Given the description of an element on the screen output the (x, y) to click on. 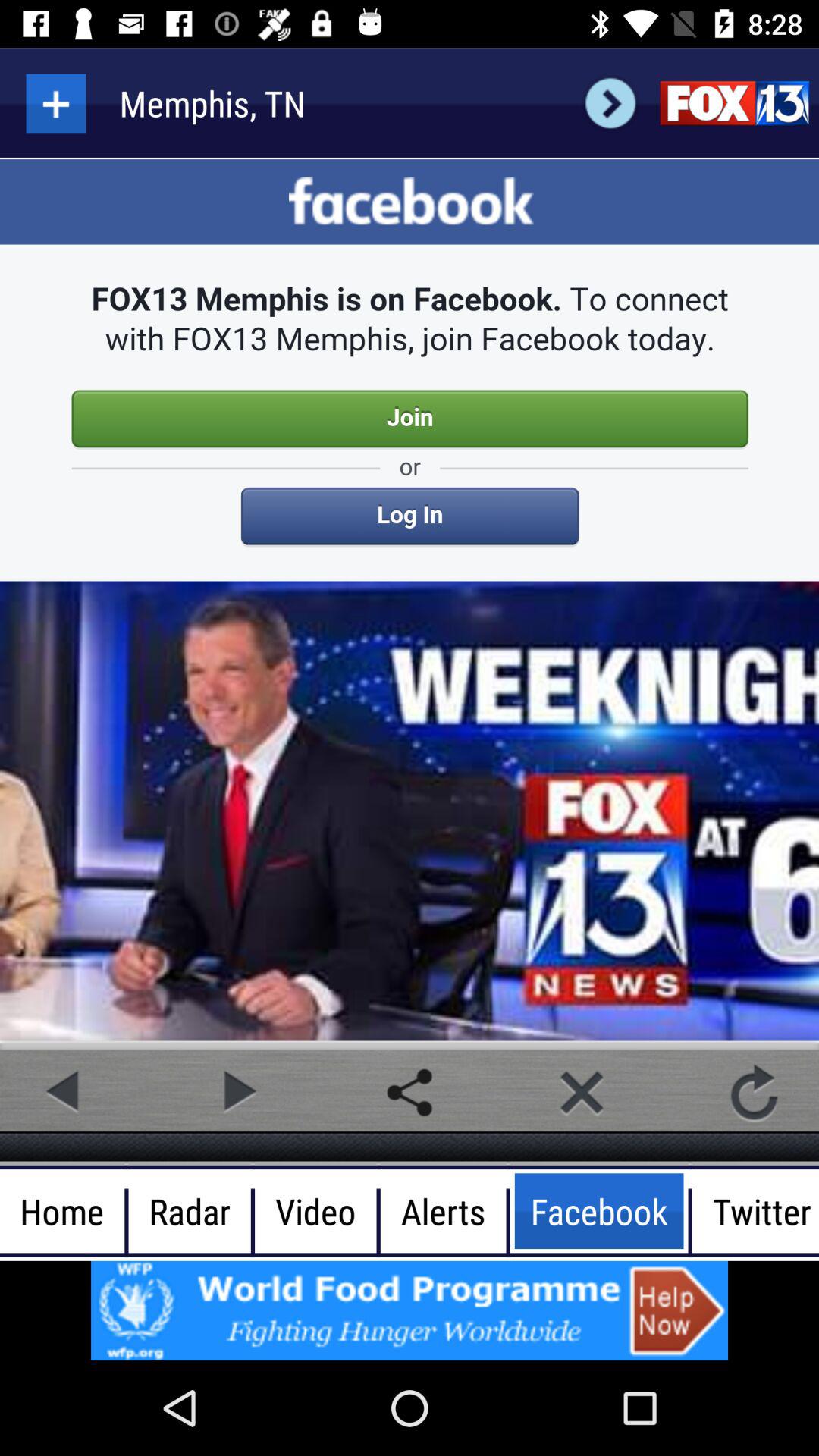
close (581, 1092)
